Given the description of an element on the screen output the (x, y) to click on. 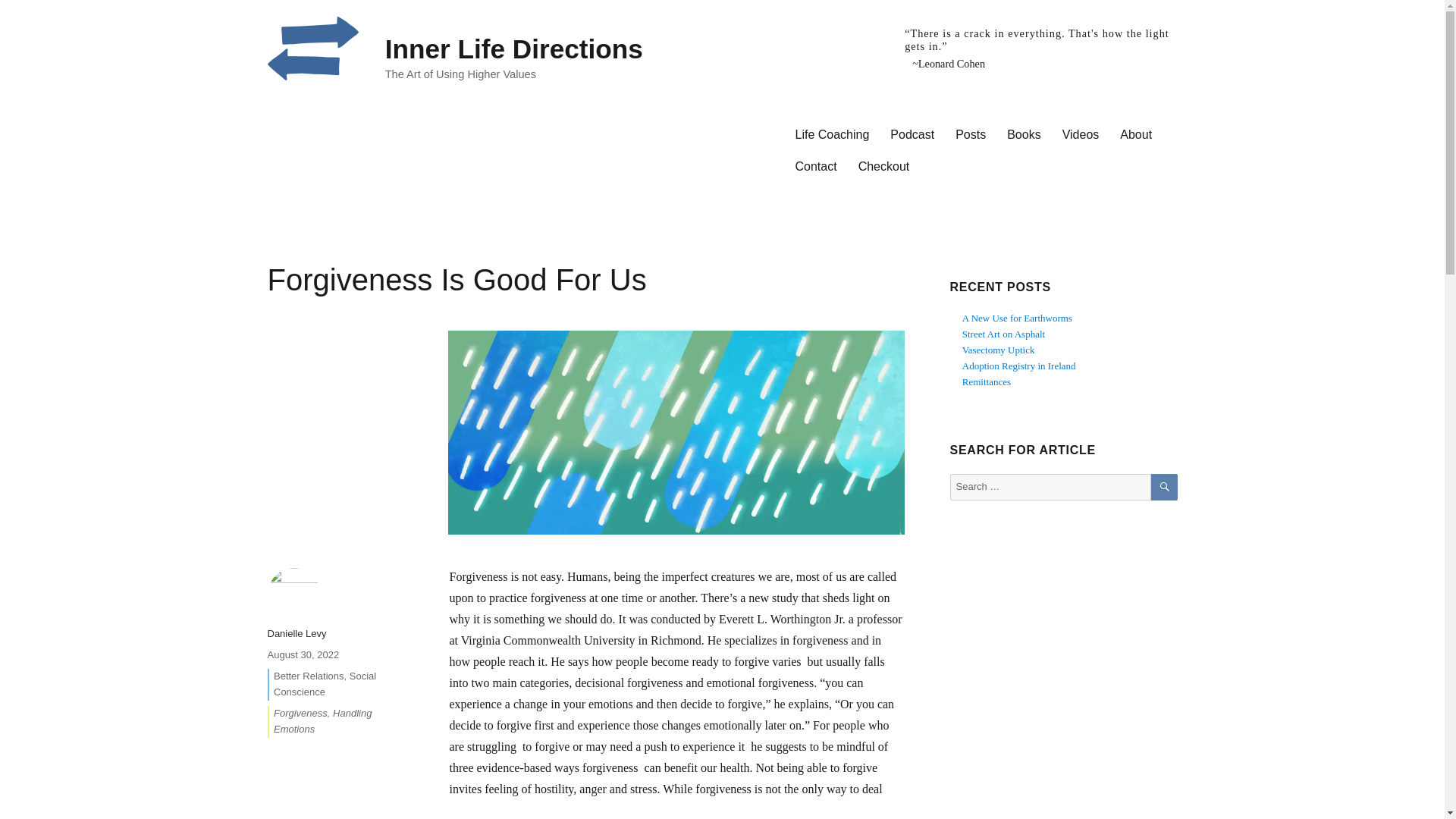
About (1135, 133)
Better Relations (308, 675)
Danielle Levy (296, 633)
Checkout (883, 165)
Podcast (911, 133)
Contact (815, 165)
Forgiveness (300, 713)
Videos (1080, 133)
Posts (969, 133)
Handling Emotions (322, 720)
Books (1023, 133)
Social Conscience (324, 683)
A New Use for Earthworms (1016, 317)
August 30, 2022 (302, 654)
Life Coaching (831, 133)
